Given the description of an element on the screen output the (x, y) to click on. 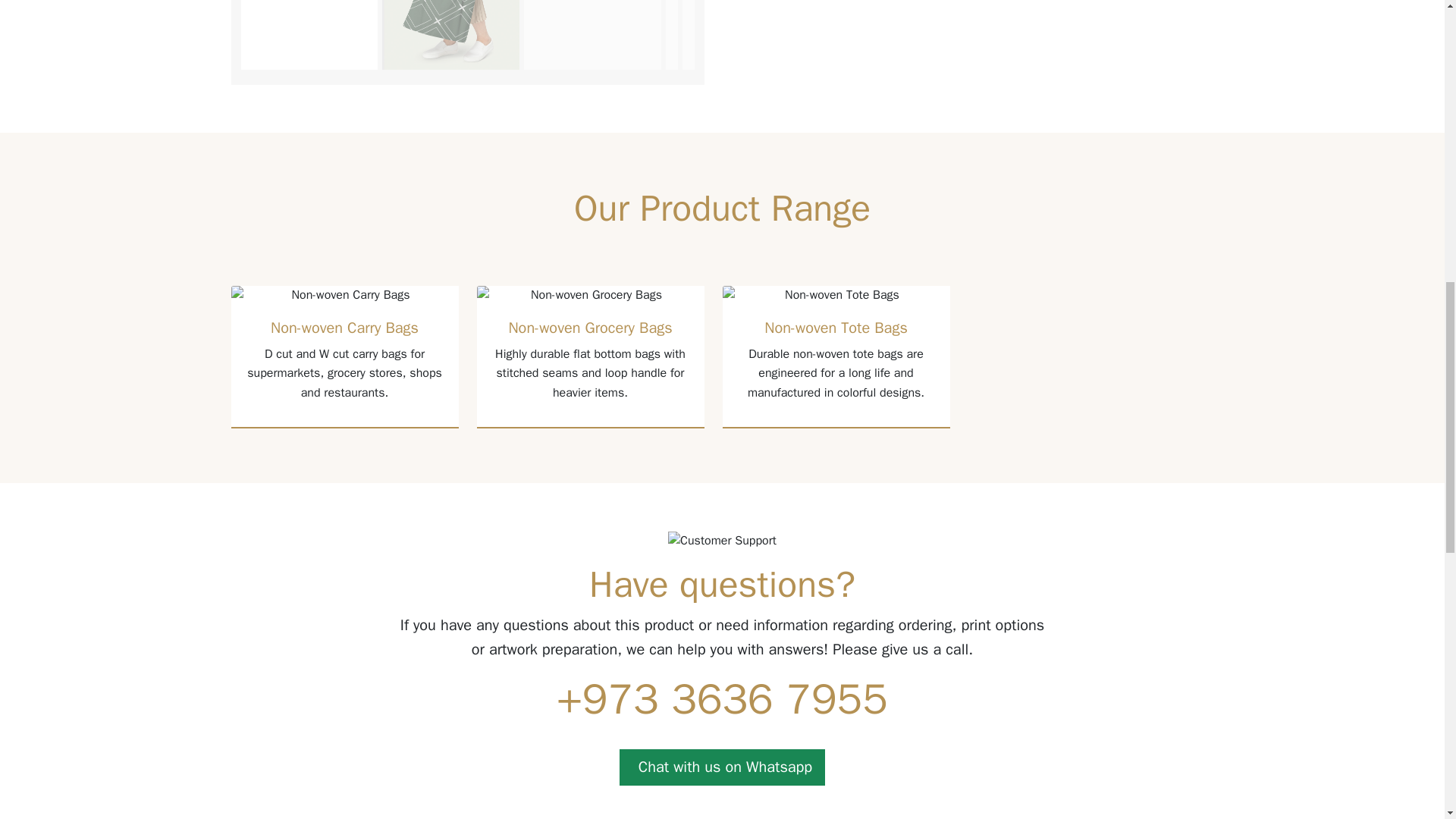
Chat with us on Whatsapp (722, 767)
